Given the description of an element on the screen output the (x, y) to click on. 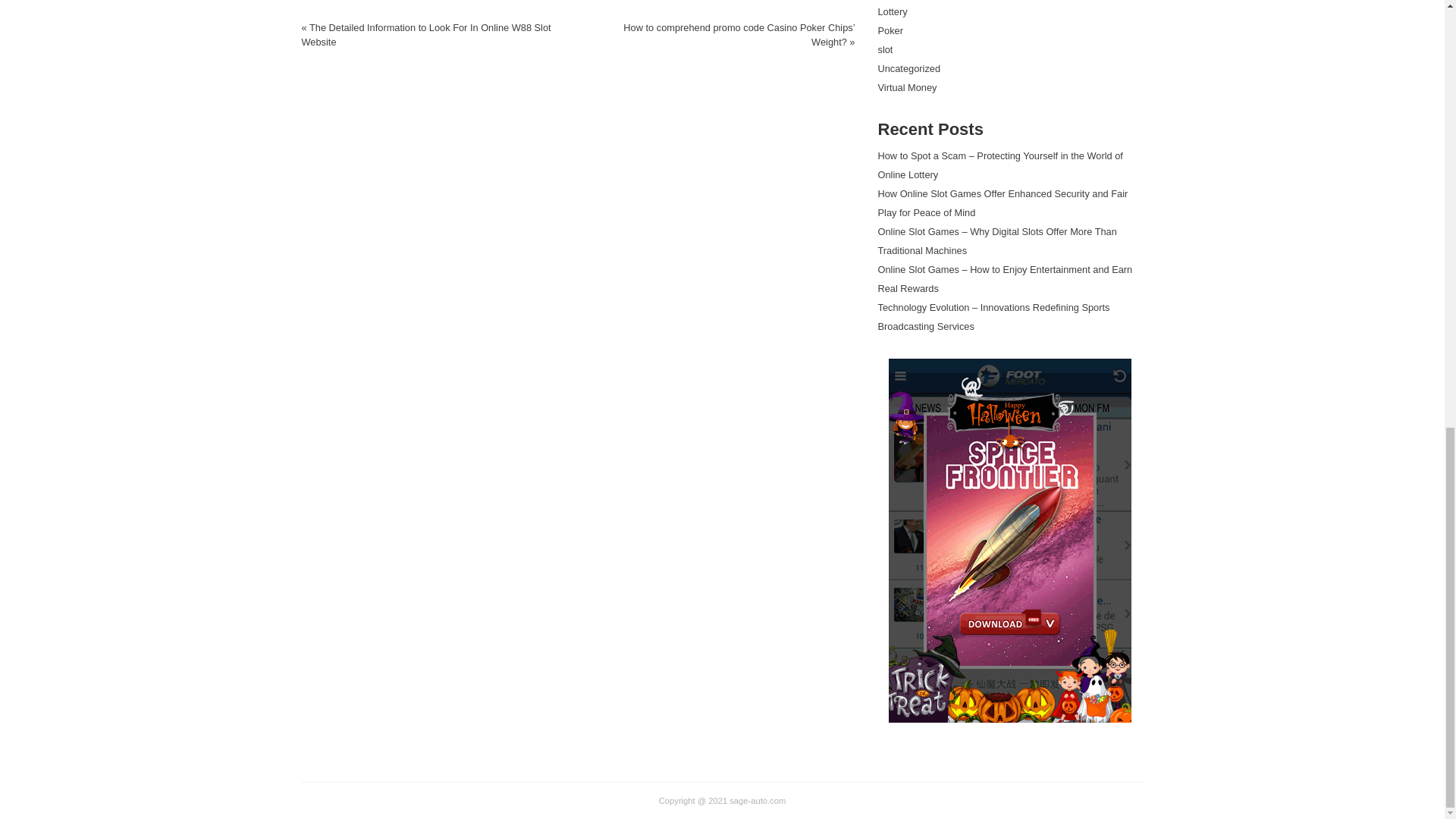
slot (885, 49)
Virtual Money (907, 87)
Lottery (892, 11)
Poker (889, 30)
Uncategorized (908, 68)
